Given the description of an element on the screen output the (x, y) to click on. 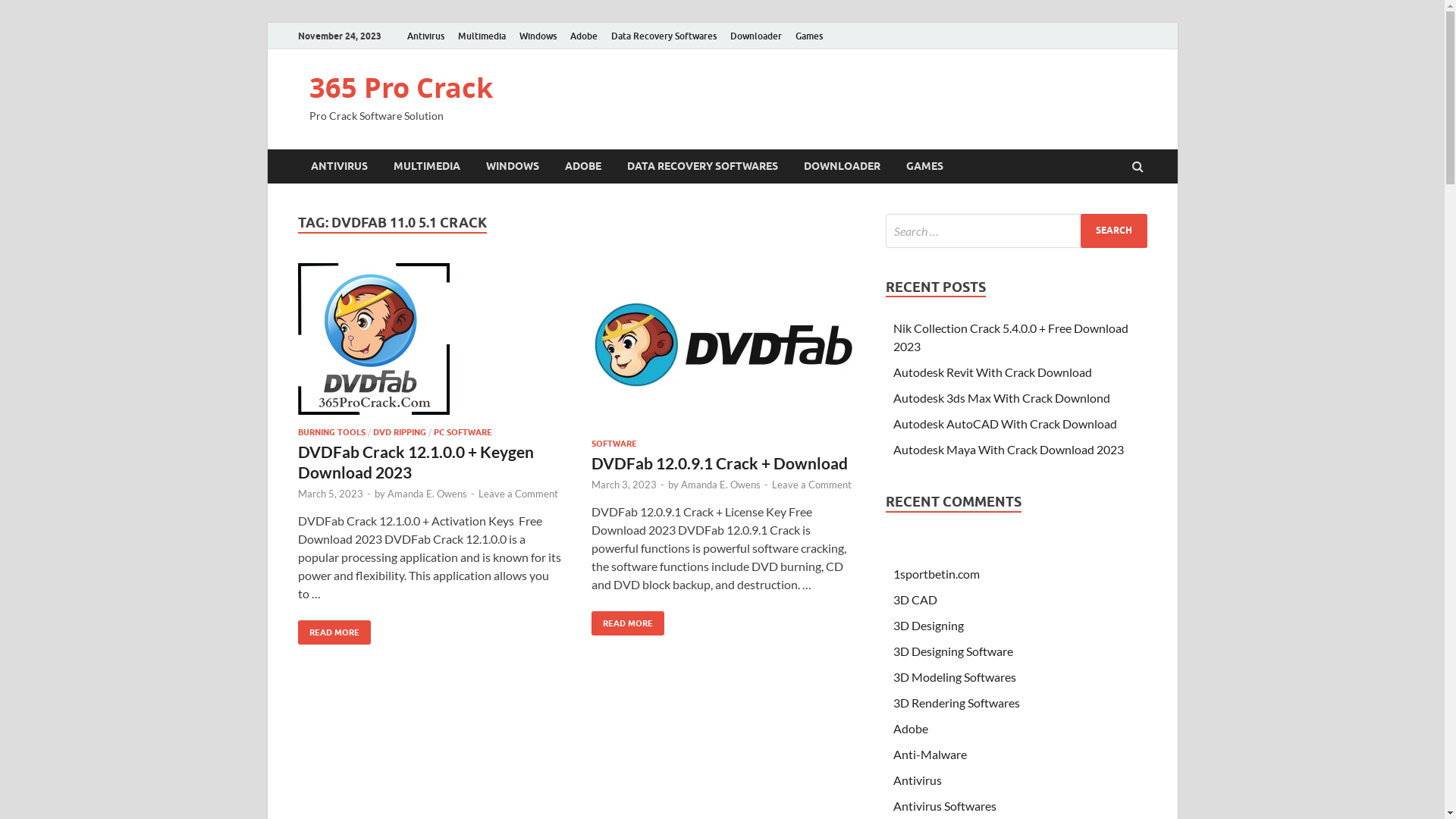
Multimedia Element type: text (480, 35)
DATA RECOVERY SOFTWARES Element type: text (702, 166)
Leave a Comment Element type: text (517, 493)
Games Element type: text (808, 35)
3D CAD Element type: text (915, 599)
DVDFab Crack 12.1.0.0 + Keygen Download 2023 Element type: hover (429, 344)
BURNING TOOLS Element type: text (330, 431)
3D Rendering Softwares Element type: text (956, 702)
READ MORE Element type: text (333, 632)
3D Designing Software Element type: text (953, 650)
PC SOFTWARE Element type: text (462, 431)
3D Designing Element type: text (928, 625)
Search Element type: text (1112, 230)
DVDFab 12.0.9.1 Crack + Download Element type: hover (723, 350)
3D Modeling Softwares Element type: text (954, 676)
READ MORE Element type: text (627, 623)
WINDOWS Element type: text (512, 166)
Windows Element type: text (537, 35)
Antivirus Element type: text (917, 779)
Autodesk AutoCAD With Crack Download Element type: text (1005, 423)
Leave a Comment Element type: text (811, 484)
MULTIMEDIA Element type: text (426, 166)
Amanda E. Owens Element type: text (426, 493)
Amanda E. Owens Element type: text (720, 484)
Autodesk Maya With Crack Download 2023 Element type: text (1008, 449)
March 3, 2023 Element type: text (623, 484)
Autodesk Revit With Crack Download Element type: text (992, 371)
Antivirus Element type: text (425, 35)
Autodesk 3ds Max With Crack Downlond Element type: text (1001, 397)
Antivirus Softwares Element type: text (944, 805)
Downloader Element type: text (755, 35)
DVDFab Crack 12.1.0.0 + Keygen Download 2023 Element type: text (415, 461)
Adobe Element type: text (582, 35)
Anti-Malware Element type: text (929, 753)
Nik Collection Crack 5.4.0.0 + Free Download 2023 Element type: text (1010, 336)
DOWNLOADER Element type: text (841, 166)
Adobe Element type: text (910, 728)
ADOBE Element type: text (583, 166)
DVD RIPPING Element type: text (399, 431)
Data Recovery Softwares Element type: text (662, 35)
March 5, 2023 Element type: text (329, 493)
ANTIVIRUS Element type: text (338, 166)
365 Pro Crack Element type: text (400, 87)
SOFTWARE Element type: text (614, 443)
1sportbetin.com Element type: text (936, 573)
GAMES Element type: text (924, 166)
DVDFab 12.0.9.1 Crack + Download Element type: text (719, 462)
